Given the description of an element on the screen output the (x, y) to click on. 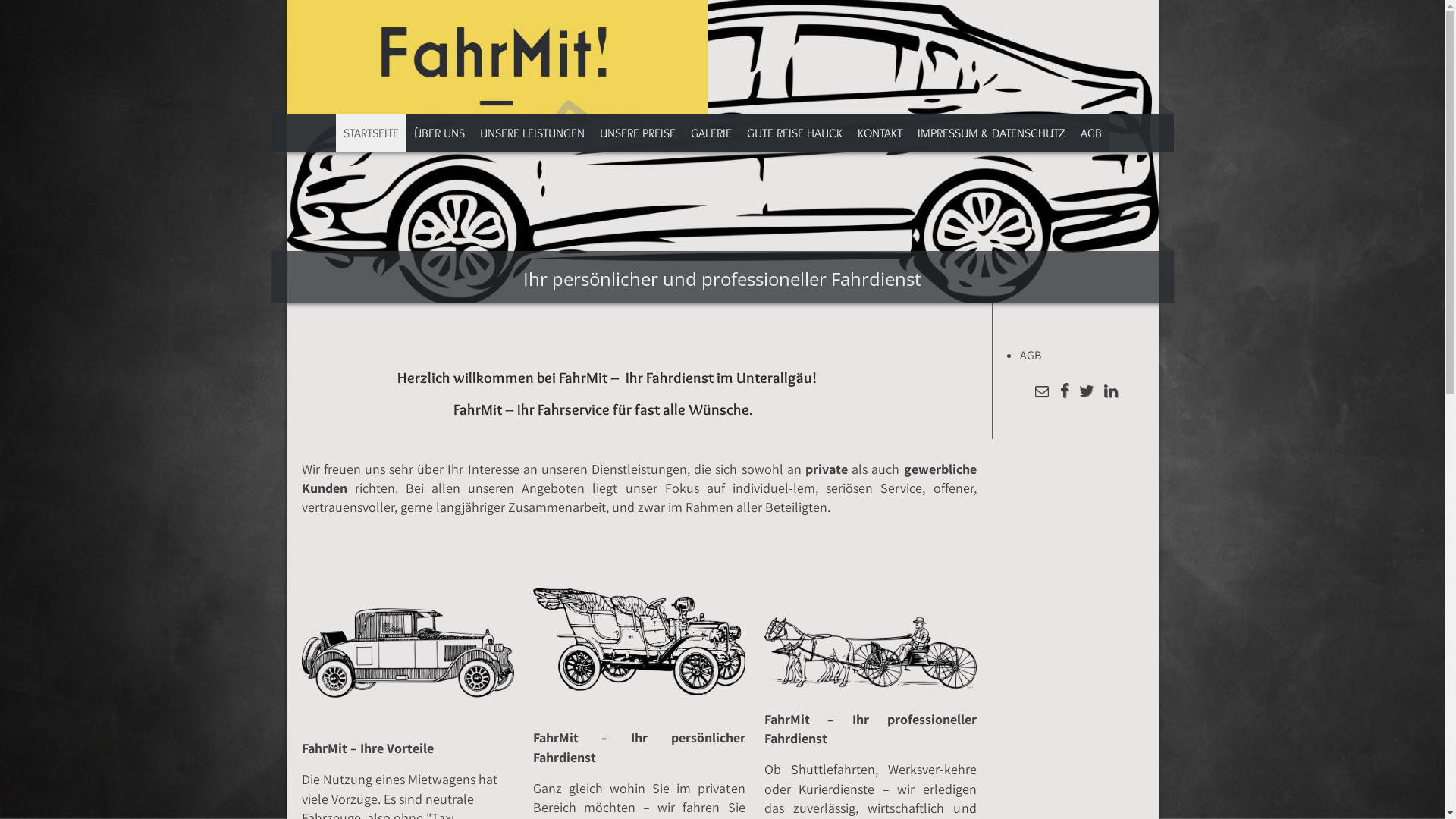
LinkedIn Element type: hover (1109, 392)
KONTAKT Element type: text (879, 132)
GUTE REISE HAUCK Element type: text (793, 132)
E-mail Element type: hover (1041, 392)
AGB Element type: text (1090, 132)
UNSERE PREISE Element type: text (636, 132)
IMPRESSUM & DATENSCHUTZ Element type: text (991, 132)
Twitter Element type: hover (1086, 392)
UNSERE LEISTUNGEN Element type: text (531, 132)
STARTSEITE Element type: text (370, 132)
GALERIE Element type: text (710, 132)
Facebook Element type: hover (1064, 392)
